Given the description of an element on the screen output the (x, y) to click on. 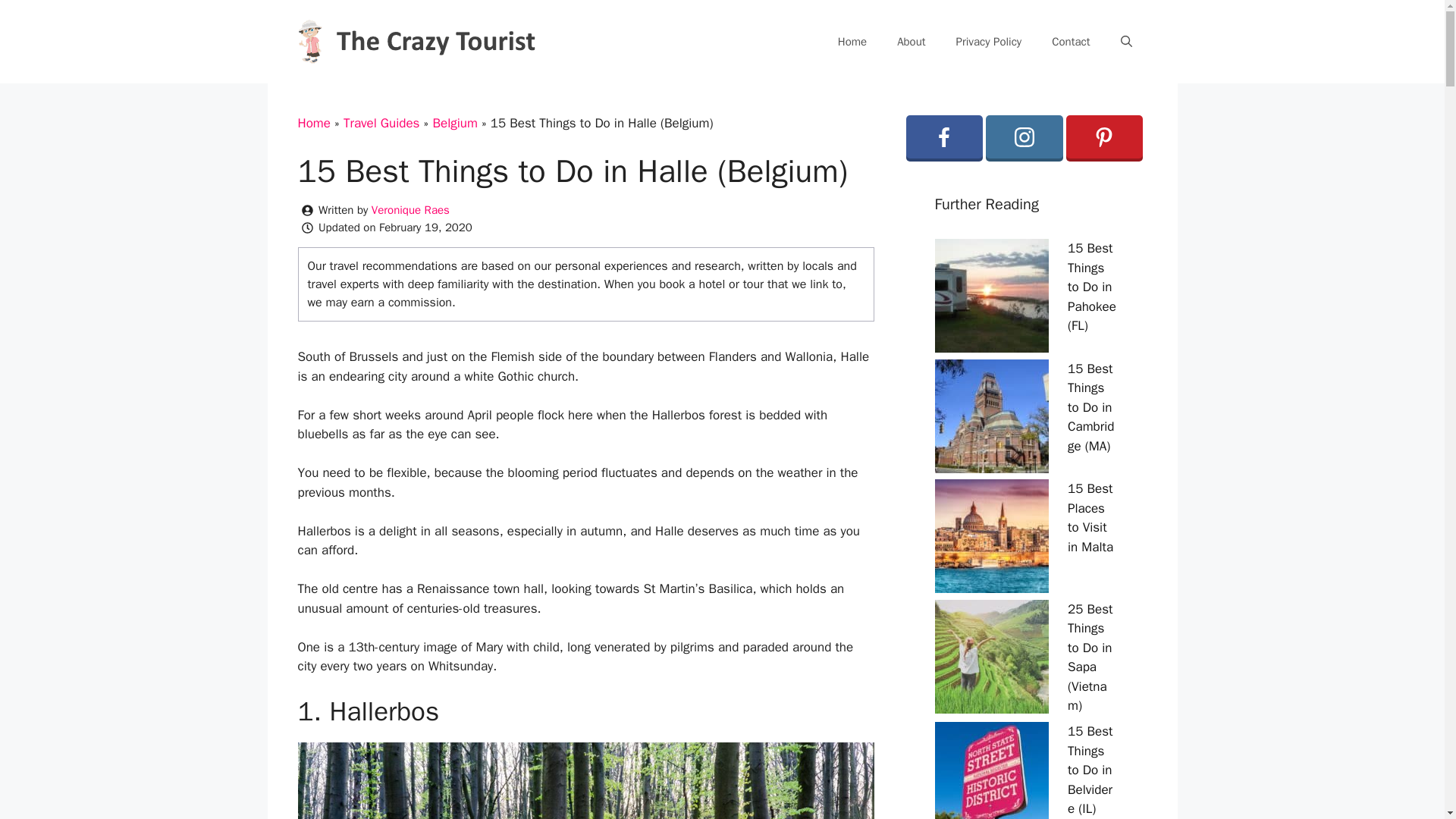
Privacy Policy (988, 41)
Home (313, 123)
Veronique Raes (410, 210)
About (911, 41)
Belgium (454, 123)
Contact (1070, 41)
Home (852, 41)
Travel Guides (381, 123)
